Given the description of an element on the screen output the (x, y) to click on. 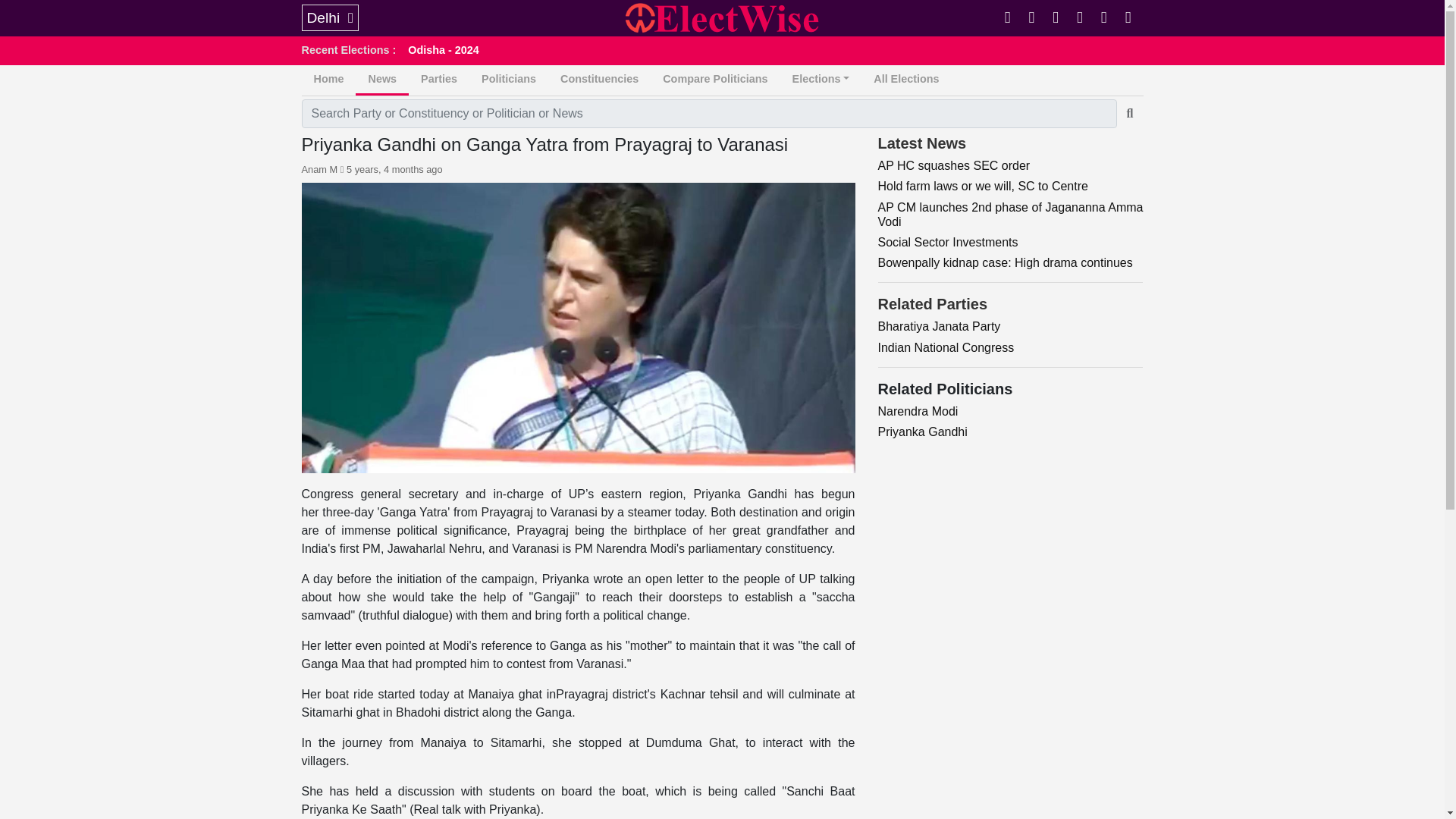
News (382, 80)
Latest News (921, 144)
Delhi   (329, 17)
All Elections (905, 79)
Compare Politicians (714, 79)
Politicians (508, 79)
Odisha - 2024 (449, 50)
Constituencies (599, 79)
Elections (820, 79)
Recent Elections : (355, 50)
Home (328, 79)
Parties (438, 79)
